Given the description of an element on the screen output the (x, y) to click on. 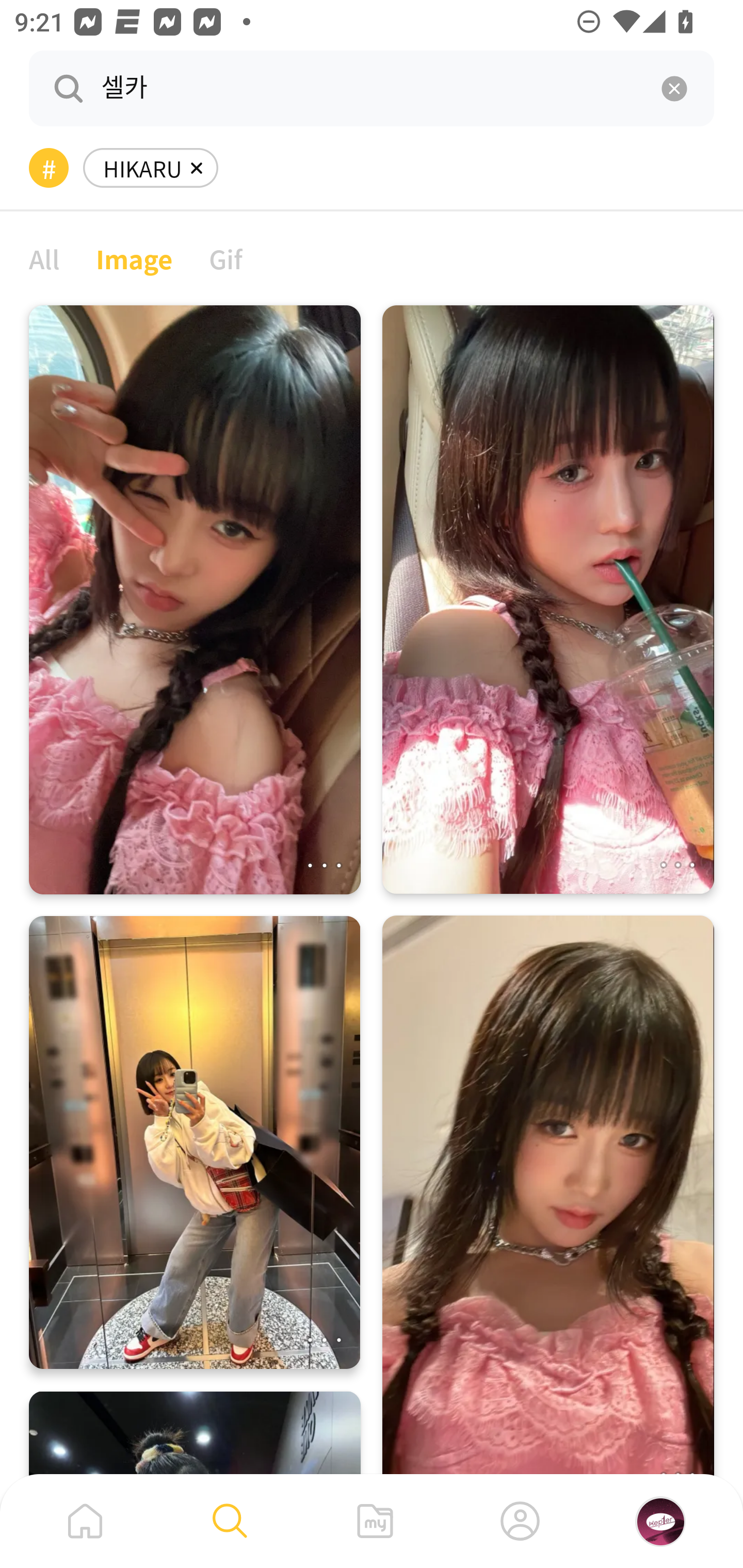
All (44, 257)
Image (134, 257)
Gif (225, 257)
